Given the description of an element on the screen output the (x, y) to click on. 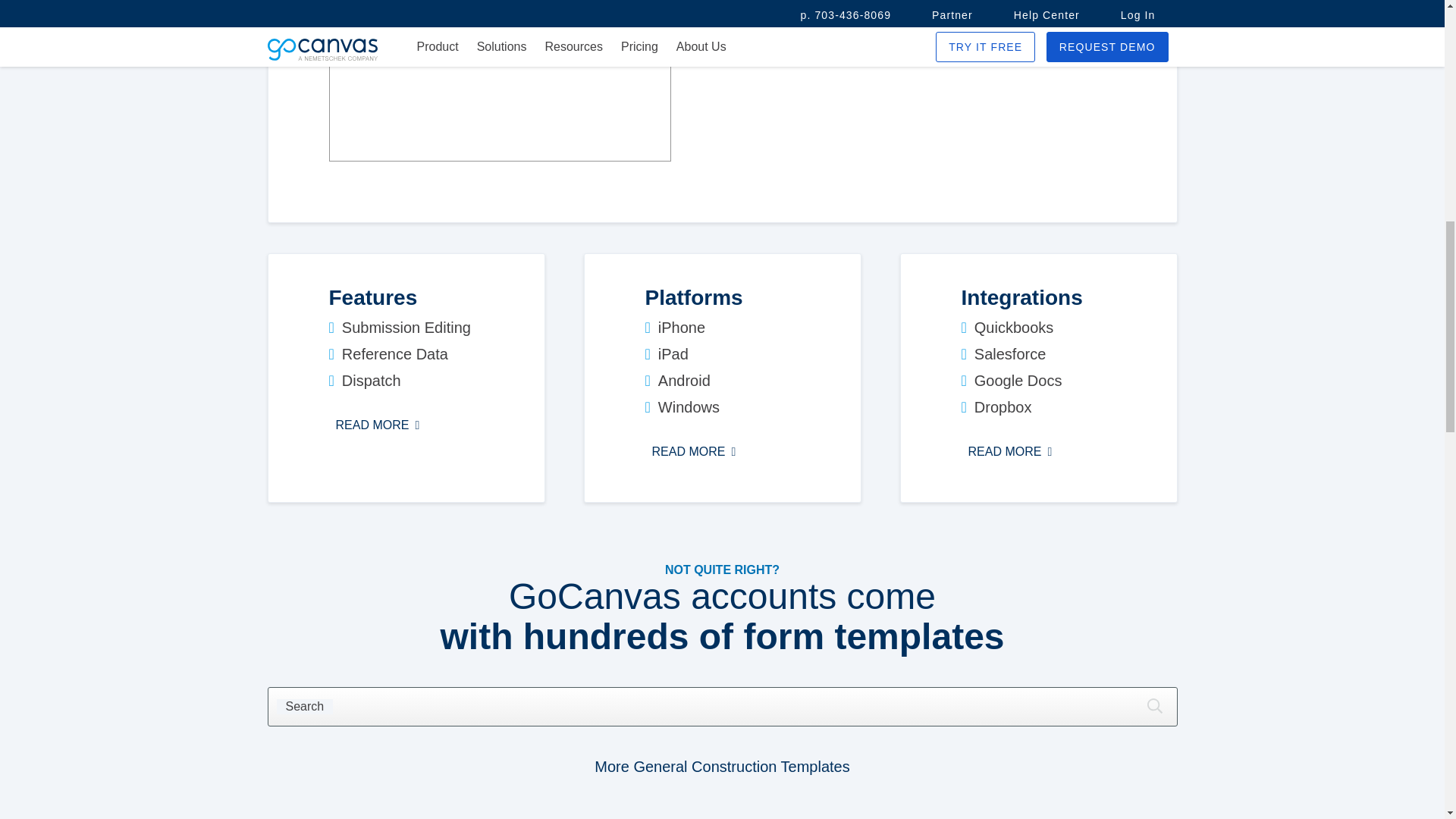
READ MORE (377, 425)
READ MORE (693, 451)
More General Construction Templates (721, 766)
READ MORE (1009, 451)
